Given the description of an element on the screen output the (x, y) to click on. 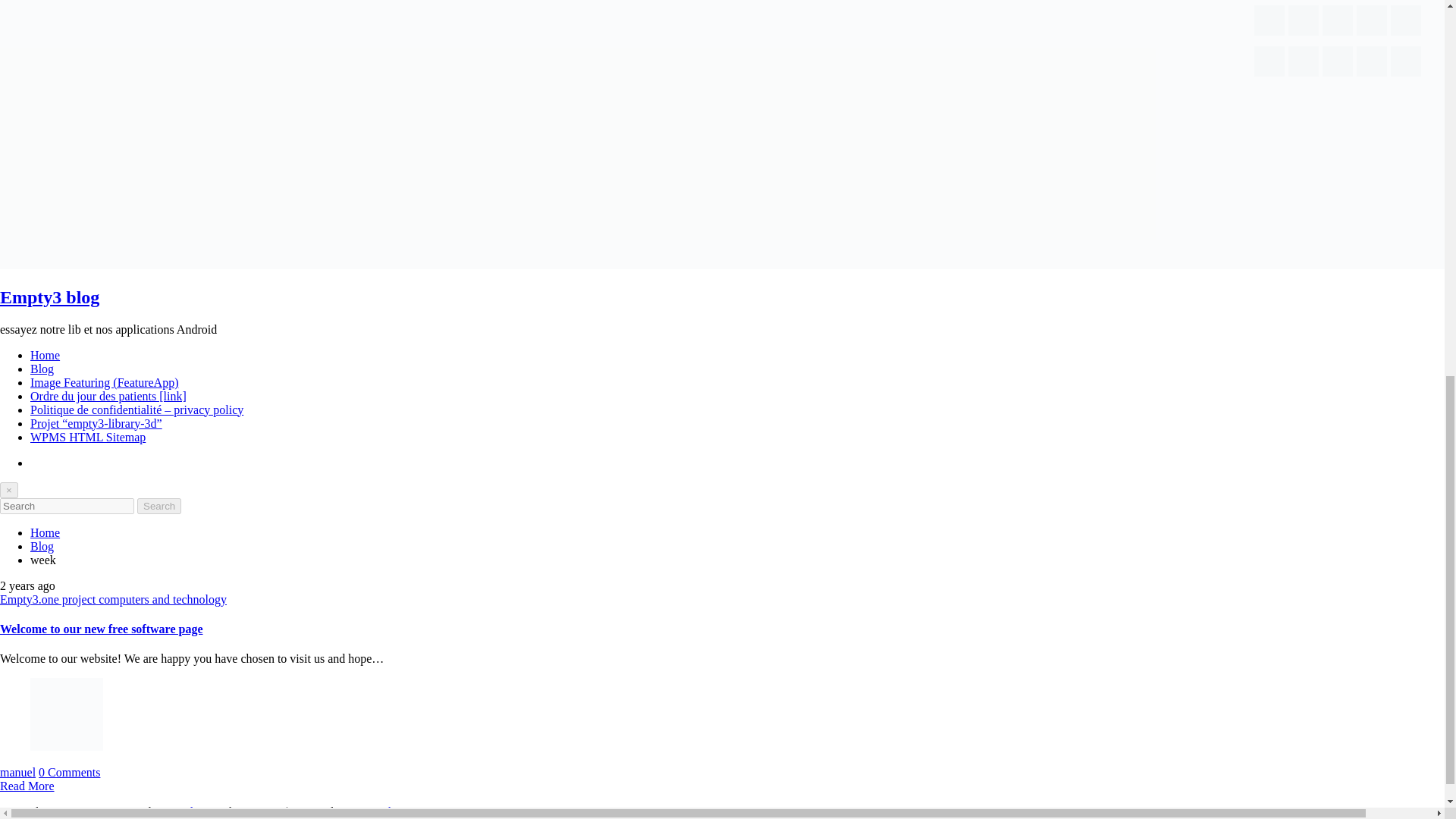
Home (44, 532)
0 Comments (69, 771)
SpiceThemes (386, 811)
Empty3.one project computers and technology (113, 599)
Empty3 blog (49, 297)
Blog (41, 368)
Search (158, 505)
Empty3.one project computers and technology (113, 599)
Empty3 blog (49, 297)
Blog (41, 545)
